Given the description of an element on the screen output the (x, y) to click on. 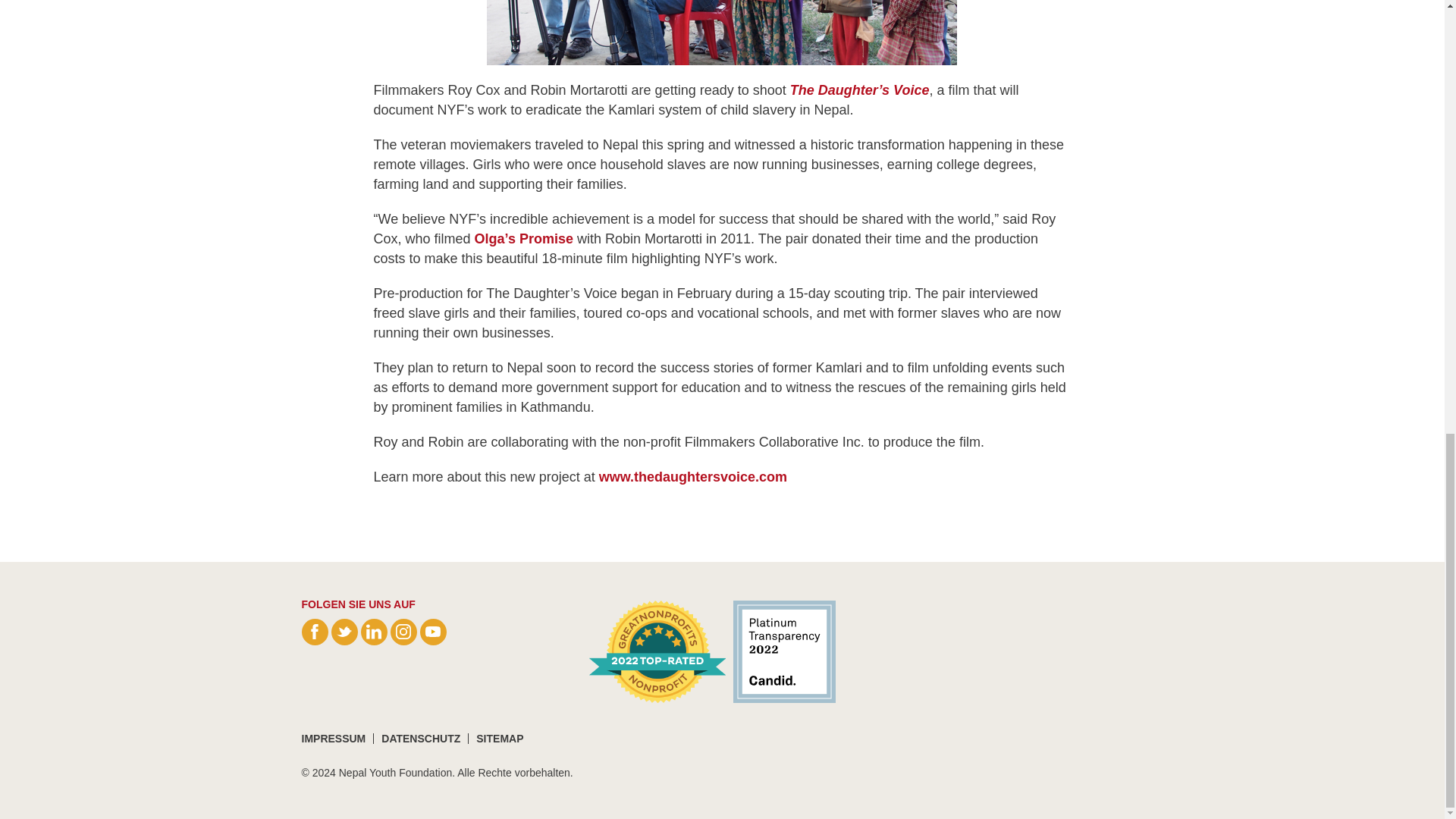
2021 Top-rated nonprofits and charities (657, 651)
www.thedaughtersvoice.com (692, 476)
NEPAL YOUTH FOUNDATION - GuideStar Profile (780, 650)
SITEMAP (499, 738)
DATENSCHUTZ (420, 738)
IMPRESSUM (333, 738)
